Given the description of an element on the screen output the (x, y) to click on. 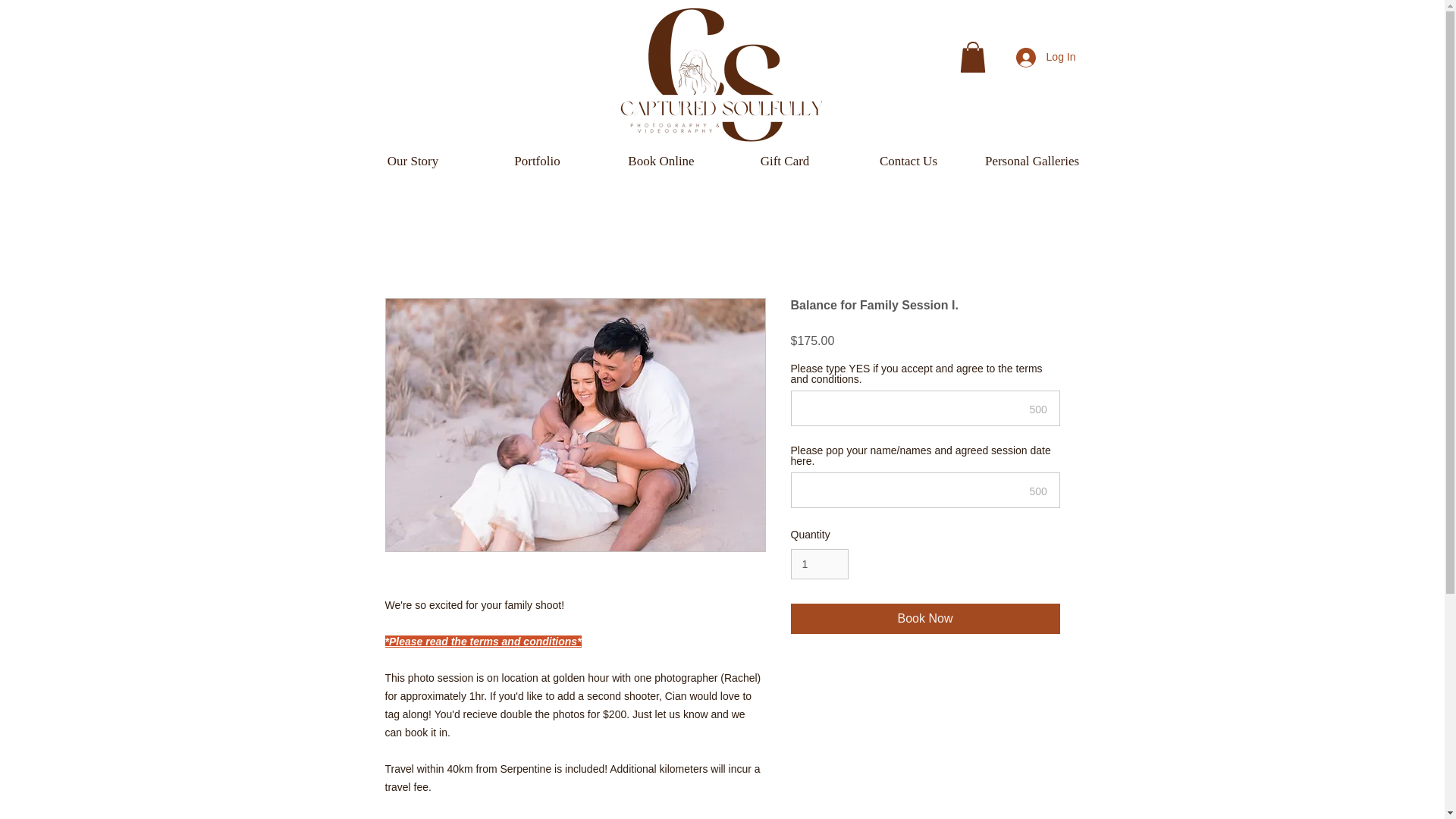
Book Now (924, 618)
Contact Us (907, 160)
Gift Card (785, 160)
Personal Galleries (1032, 160)
Portfolio (536, 160)
Our Story (412, 160)
Log In (1046, 57)
1 (818, 563)
Book Online (660, 160)
